Given the description of an element on the screen output the (x, y) to click on. 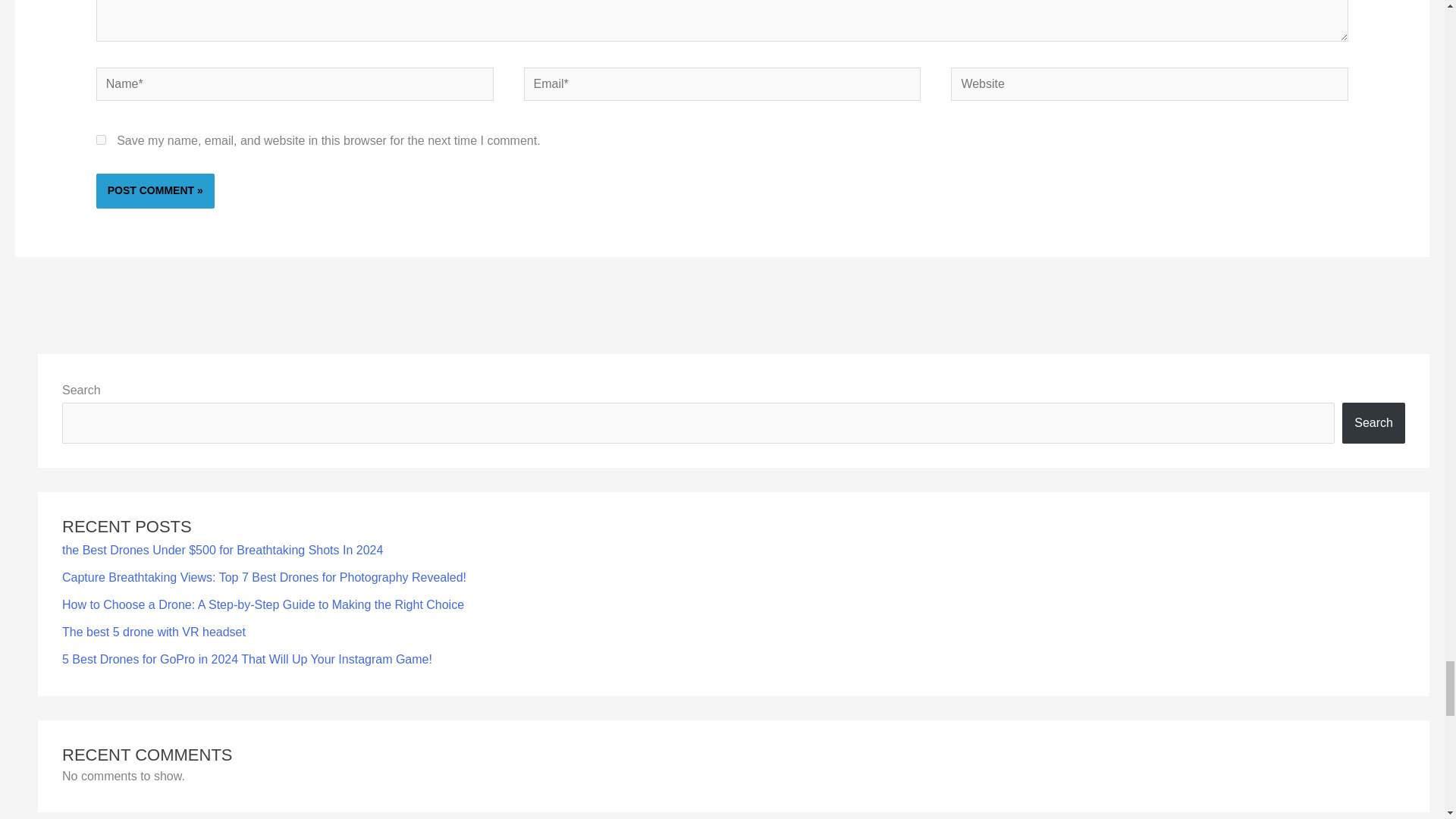
yes (101, 139)
